Given the description of an element on the screen output the (x, y) to click on. 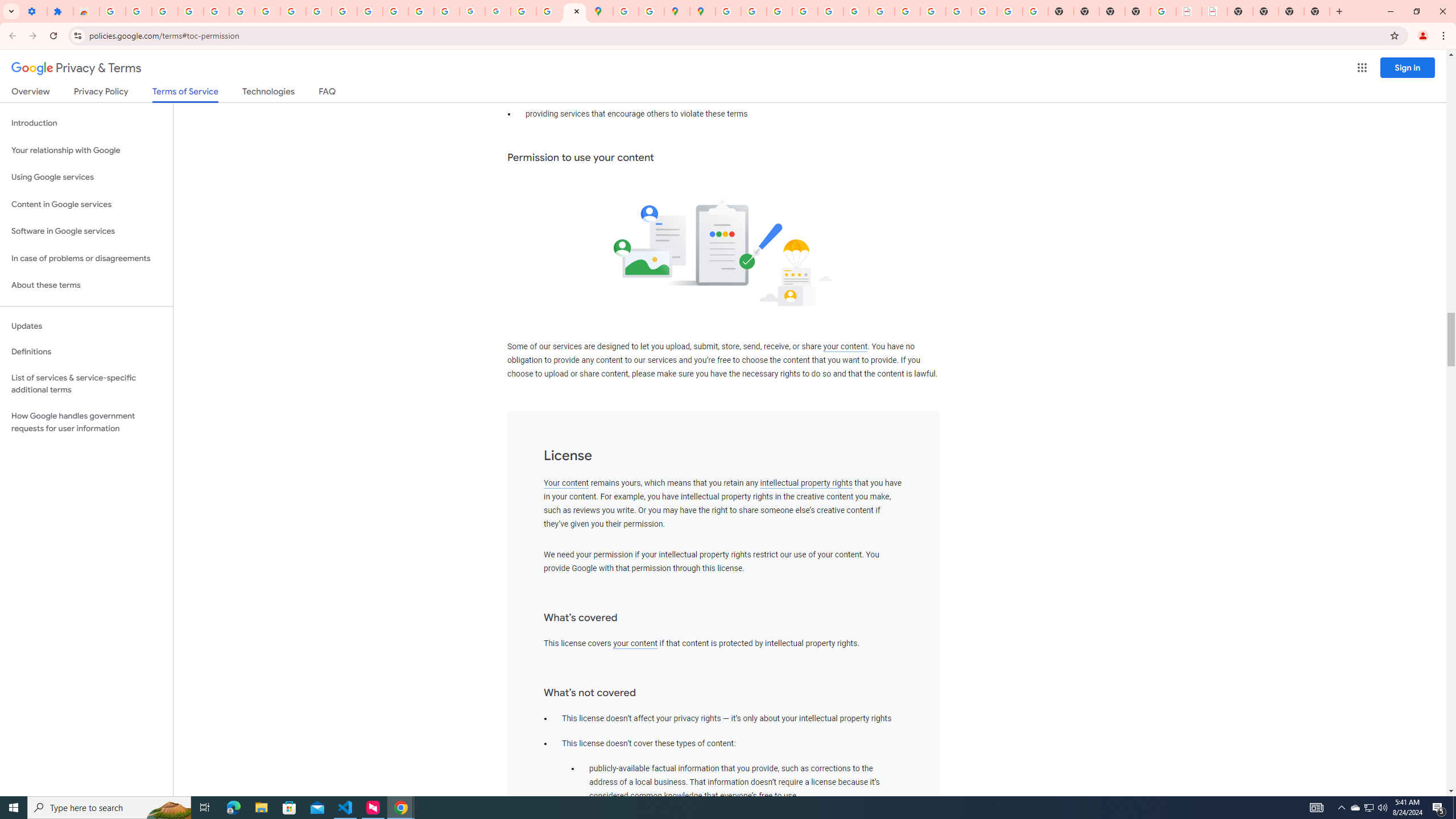
Browse Chrome as a guest - Computer - Google Chrome Help (907, 11)
